Given the description of an element on the screen output the (x, y) to click on. 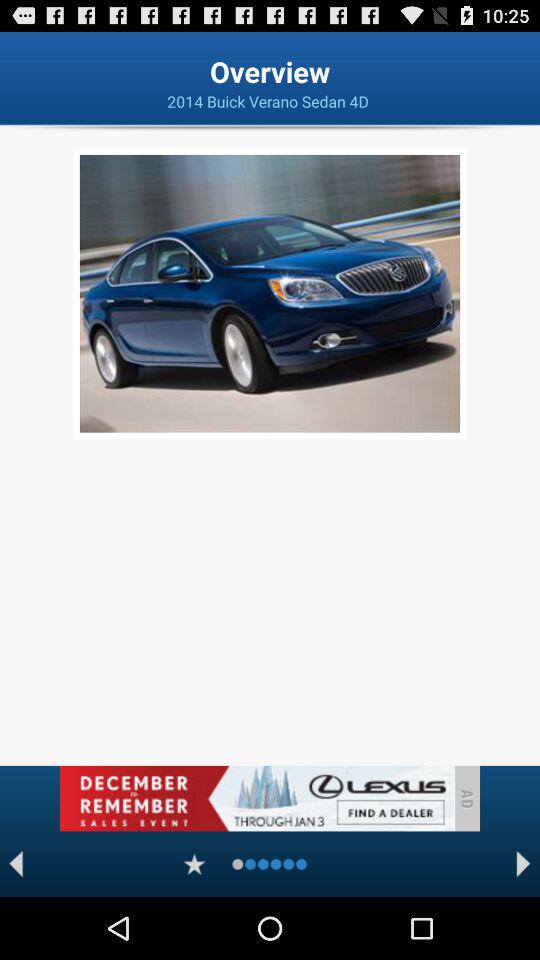
advertisement banner (256, 798)
